Given the description of an element on the screen output the (x, y) to click on. 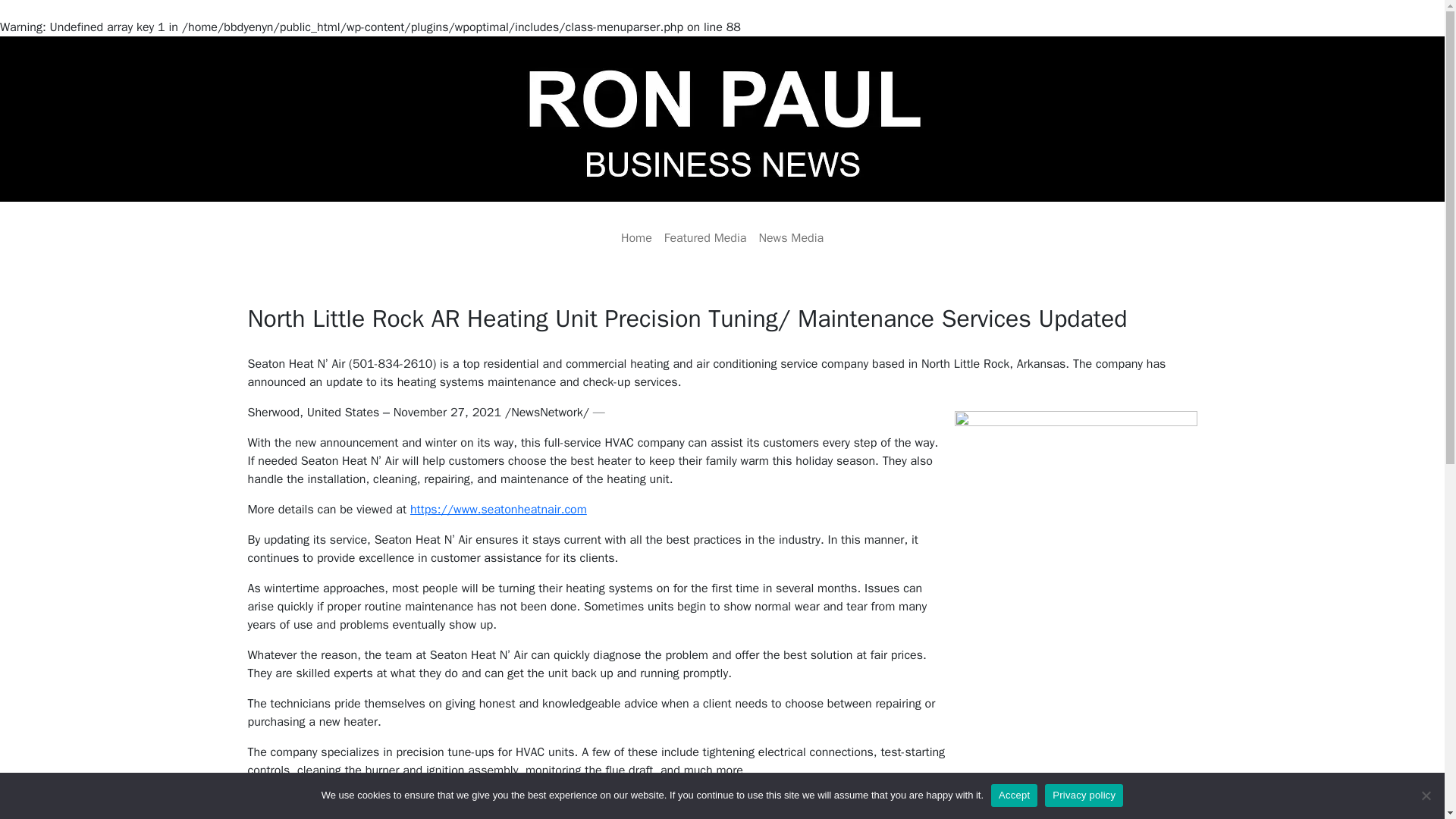
Accept (1013, 794)
News Media (790, 237)
Featured Media (705, 237)
Home (636, 237)
No (1425, 795)
Privacy policy (1083, 794)
